Given the description of an element on the screen output the (x, y) to click on. 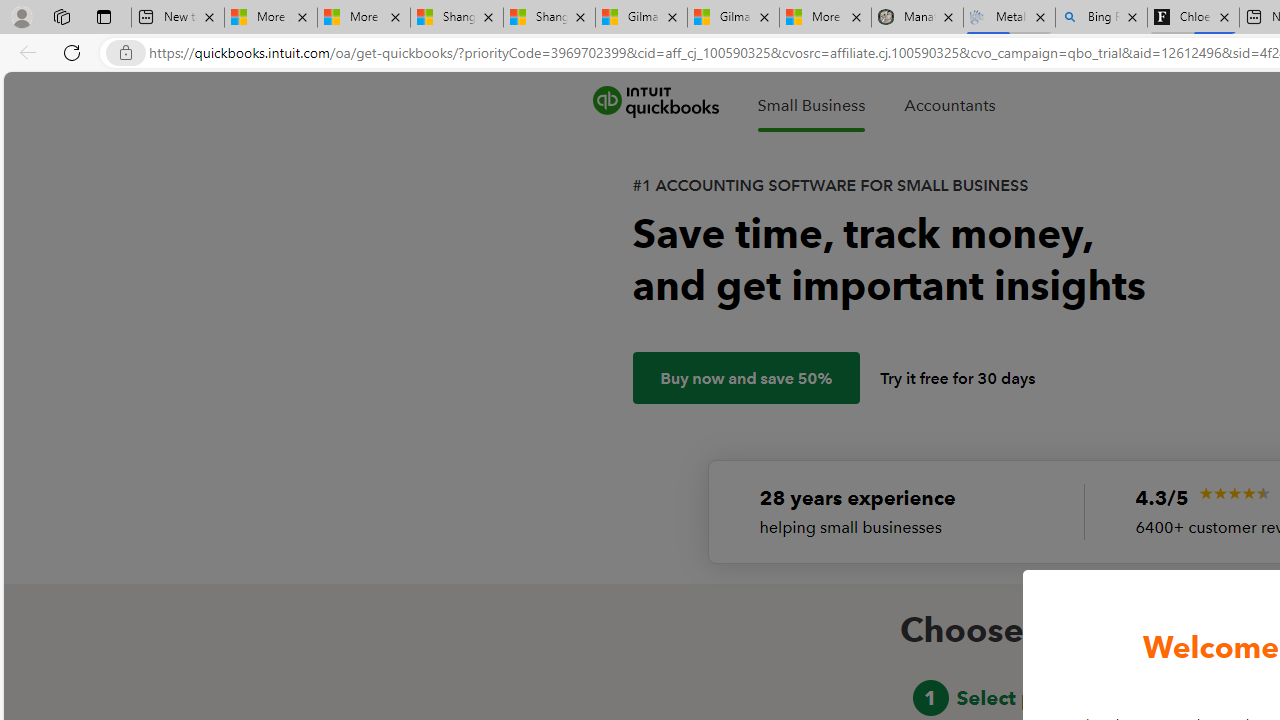
Try it free for 30 days (957, 378)
Shanghai, China weather forecast | Microsoft Weather (549, 17)
Image Alt Text (1234, 493)
Accountants (949, 105)
